Given the description of an element on the screen output the (x, y) to click on. 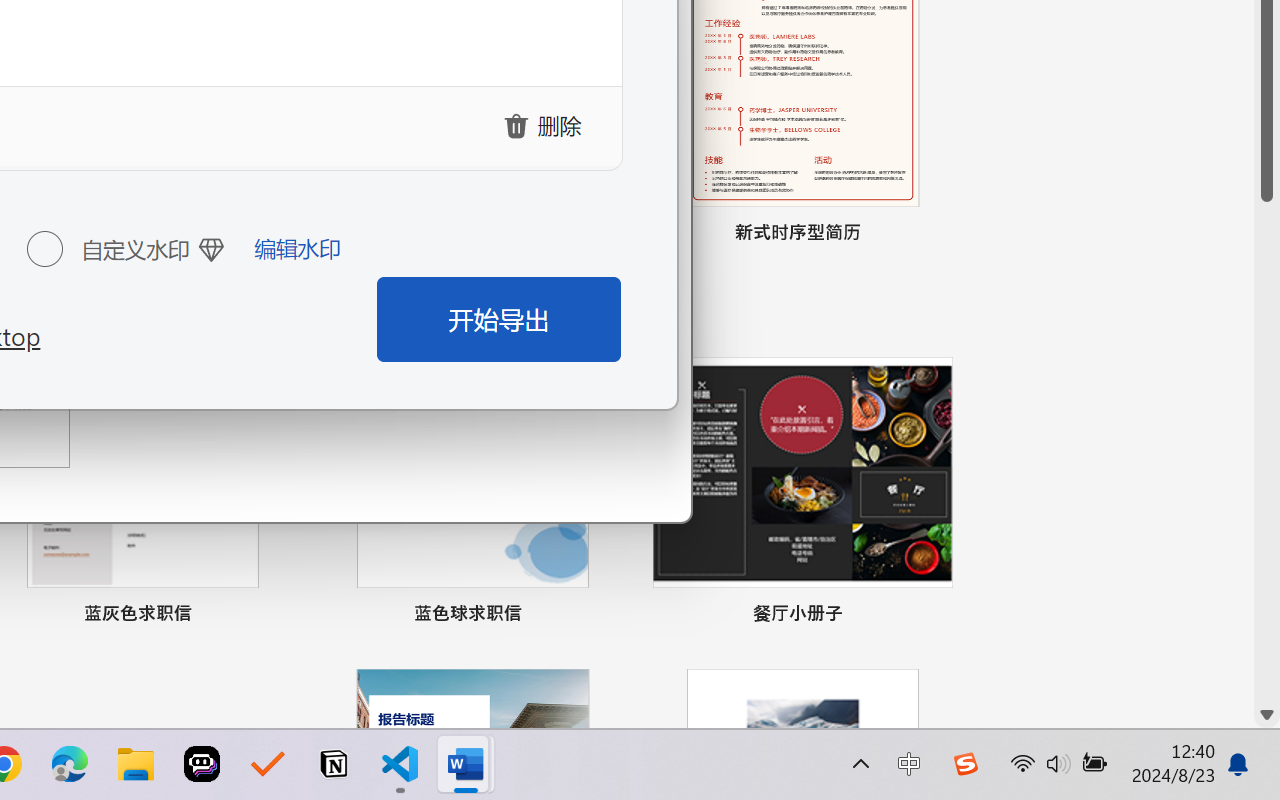
clearAllFile (545, 125)
Page down (1267, 451)
Line down (1267, 715)
